Given the description of an element on the screen output the (x, y) to click on. 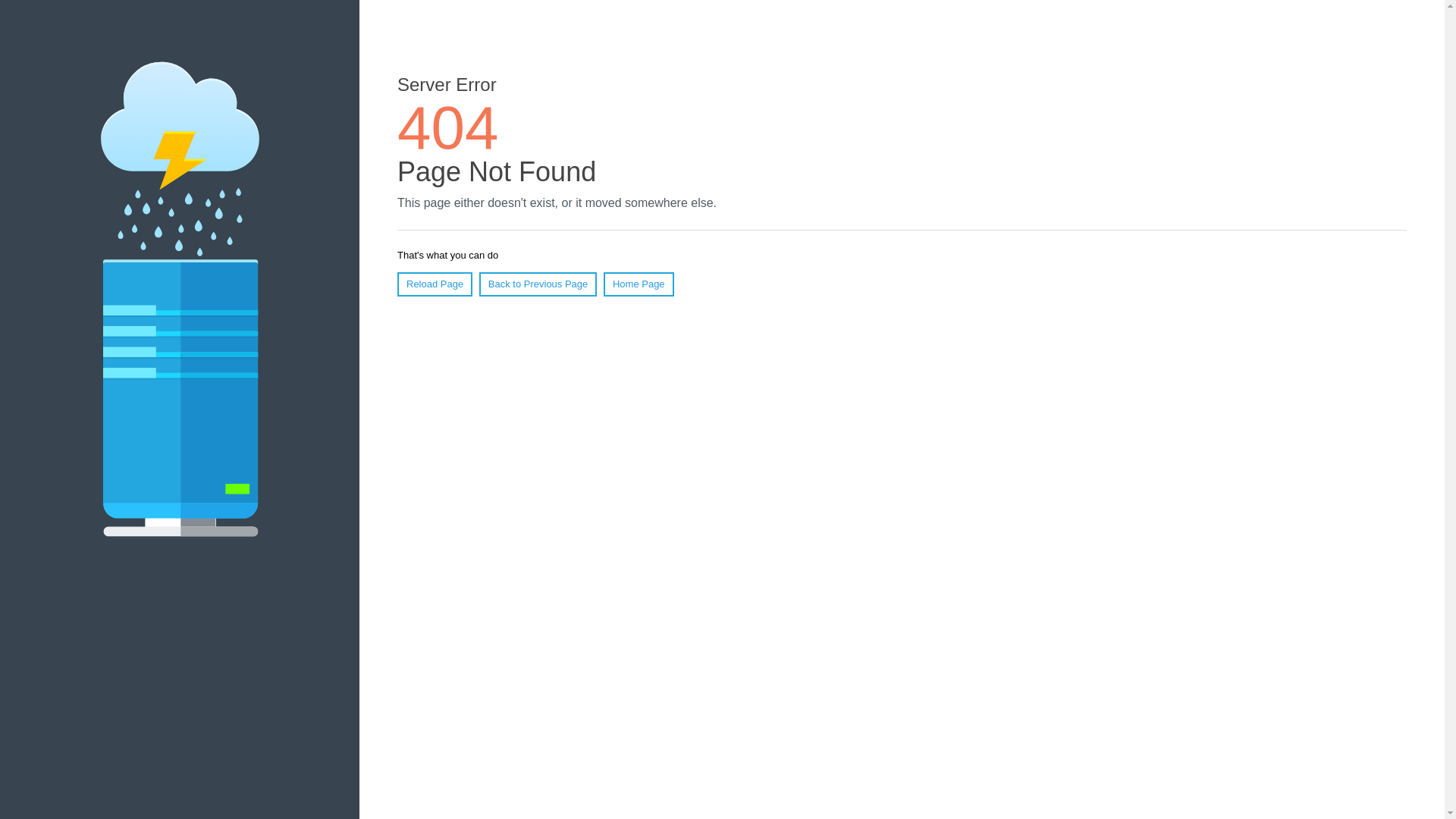
Reload Page (434, 283)
Home Page (639, 283)
Back to Previous Page (537, 283)
